Given the description of an element on the screen output the (x, y) to click on. 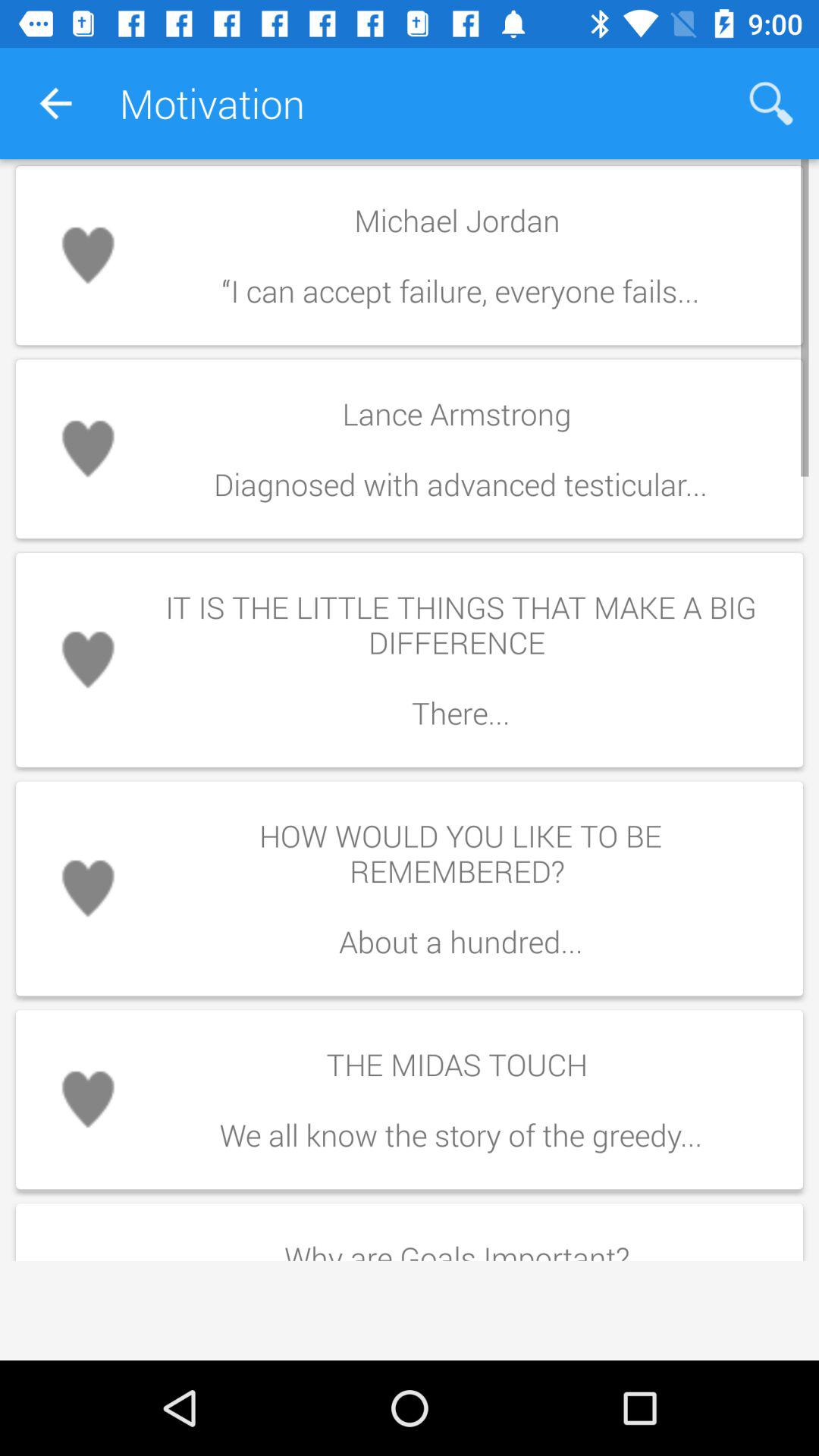
open the icon above how would you item (460, 659)
